Given the description of an element on the screen output the (x, y) to click on. 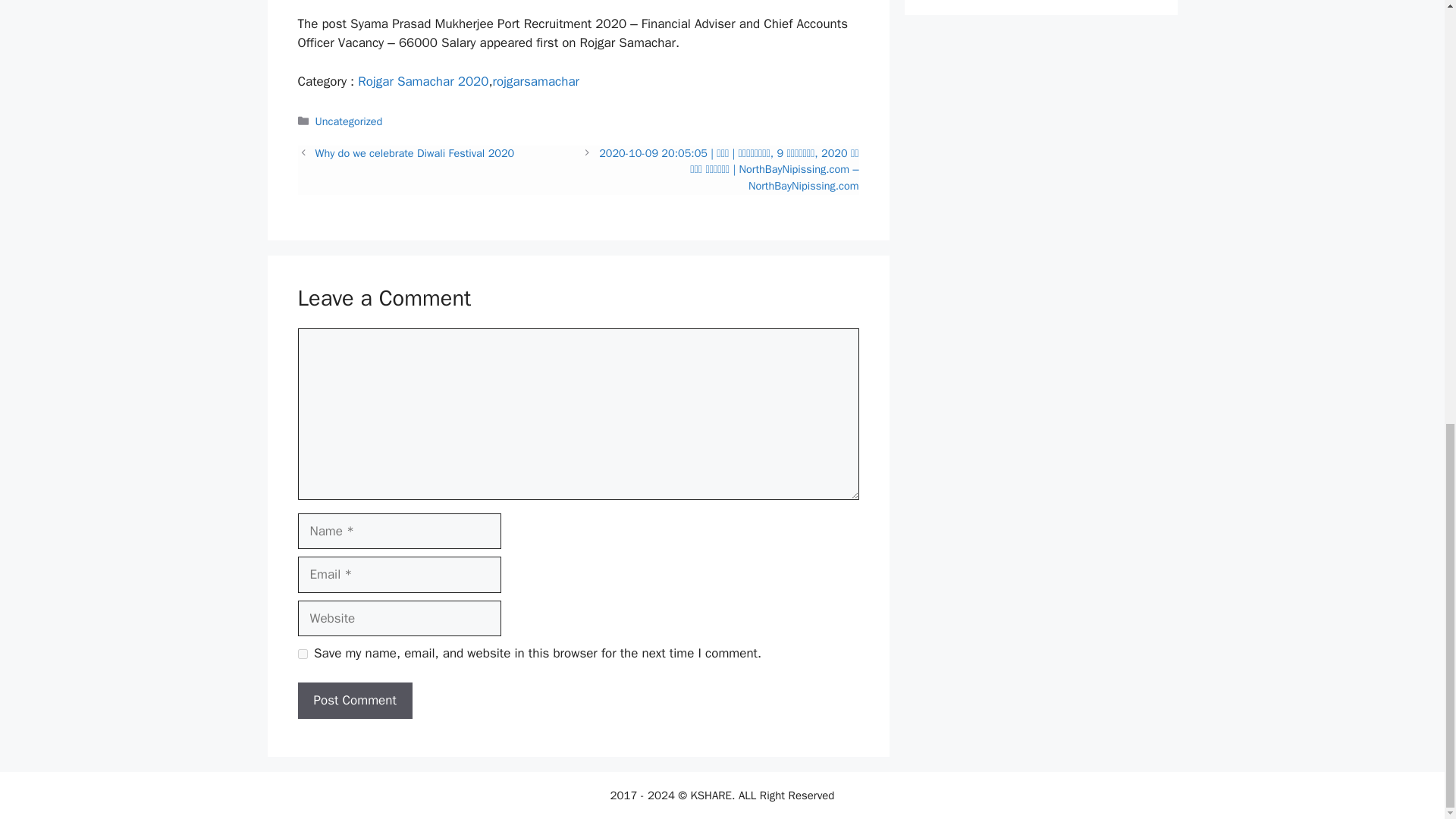
Post Comment (354, 700)
Post Comment (354, 700)
Rojgar Samachar 2020 (422, 81)
Why do we celebrate Diwali Festival 2020 (415, 152)
Uncategorized (348, 120)
Scroll back to top (1406, 657)
rojgarsamachar (536, 81)
yes (302, 654)
